Given the description of an element on the screen output the (x, y) to click on. 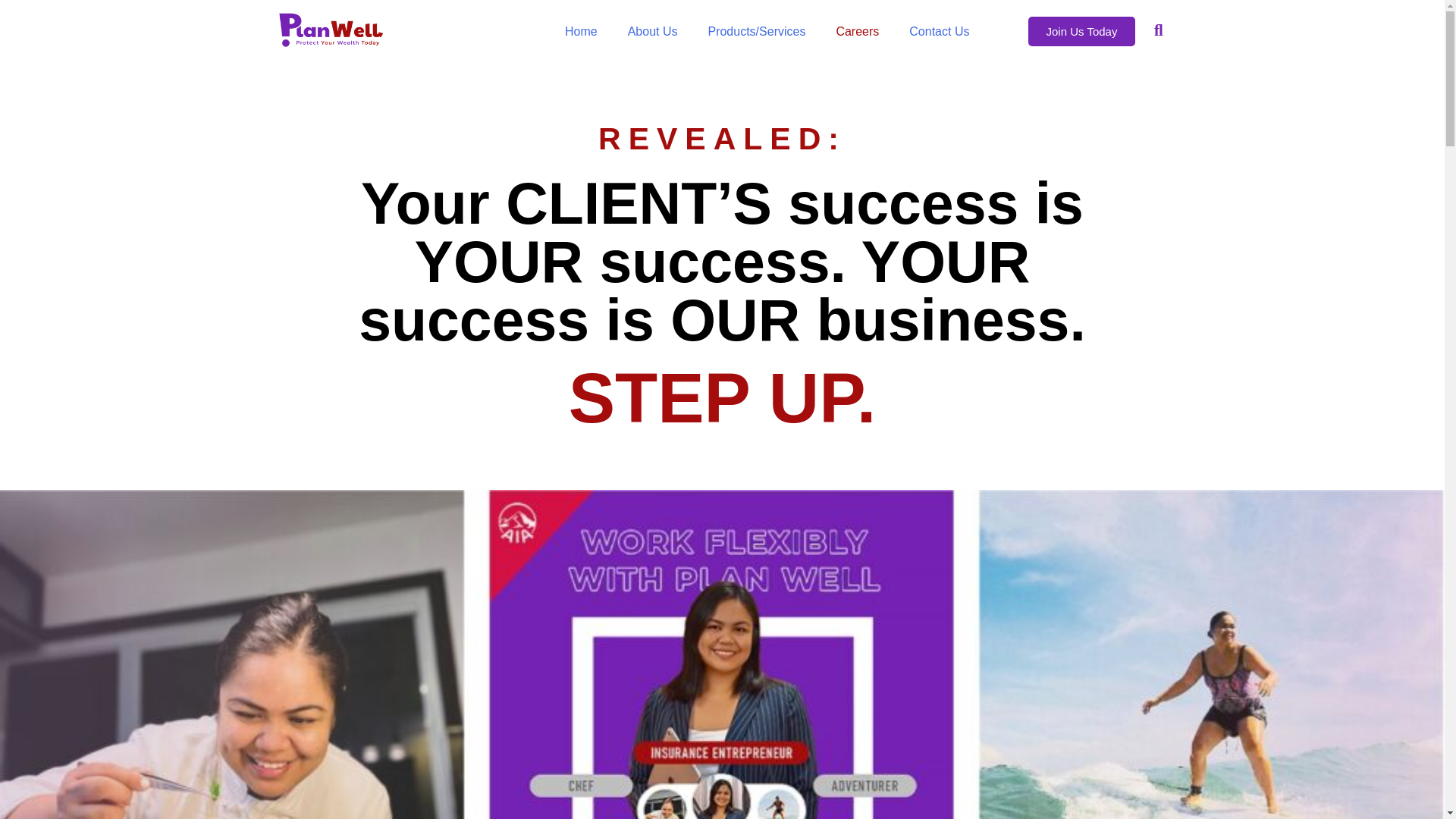
Join Us Today (1081, 30)
Contact Us (938, 31)
Careers (857, 31)
About Us (652, 31)
Home (581, 31)
